Given the description of an element on the screen output the (x, y) to click on. 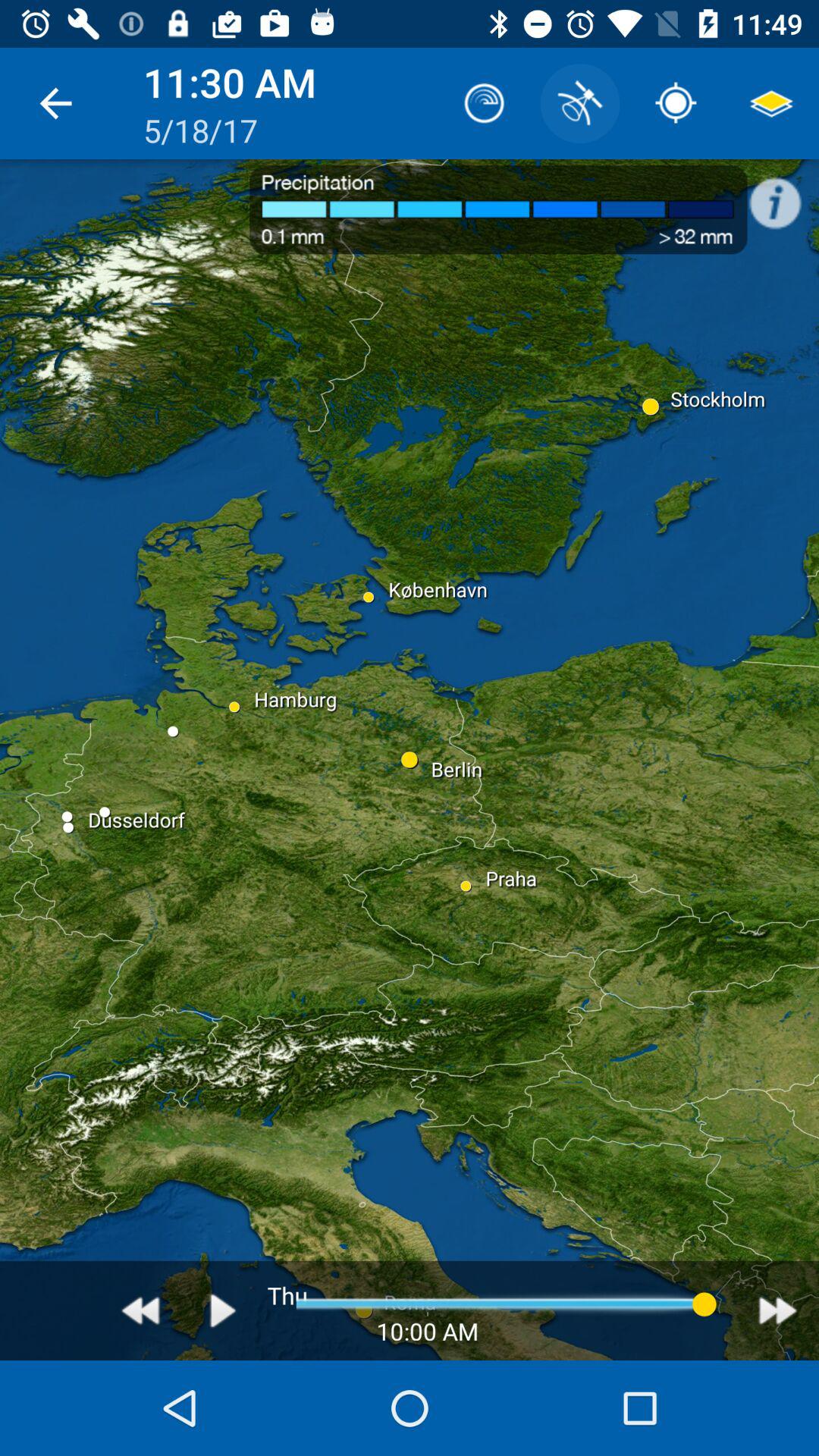
retroceder a hora (140, 1310)
